Given the description of an element on the screen output the (x, y) to click on. 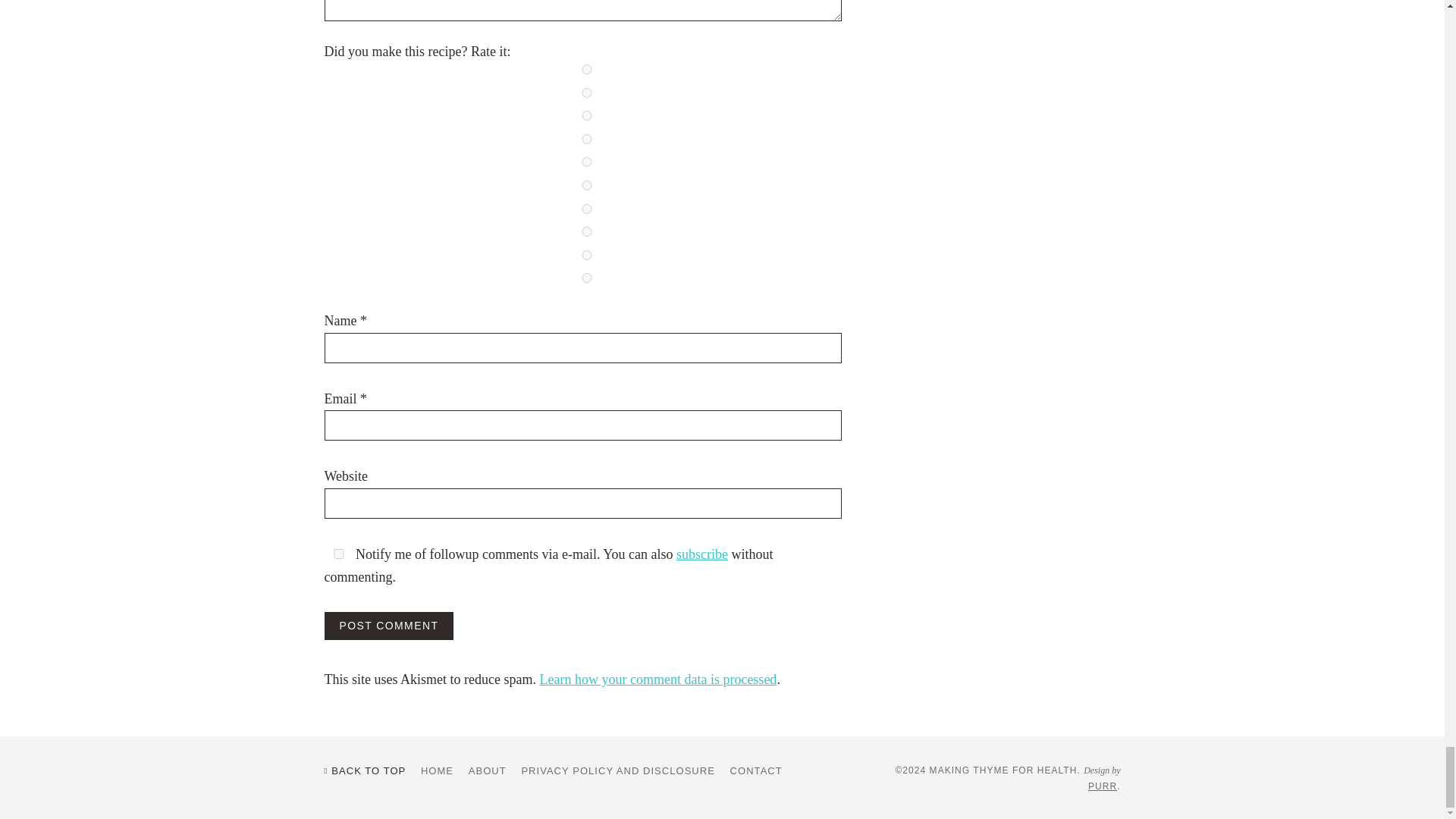
0.5 (586, 69)
4 (586, 231)
2.5 (586, 162)
1.5 (586, 115)
Post Comment (389, 625)
3 (586, 185)
2 (586, 139)
5 (586, 277)
4.5 (586, 255)
3.5 (586, 208)
